Given the description of an element on the screen output the (x, y) to click on. 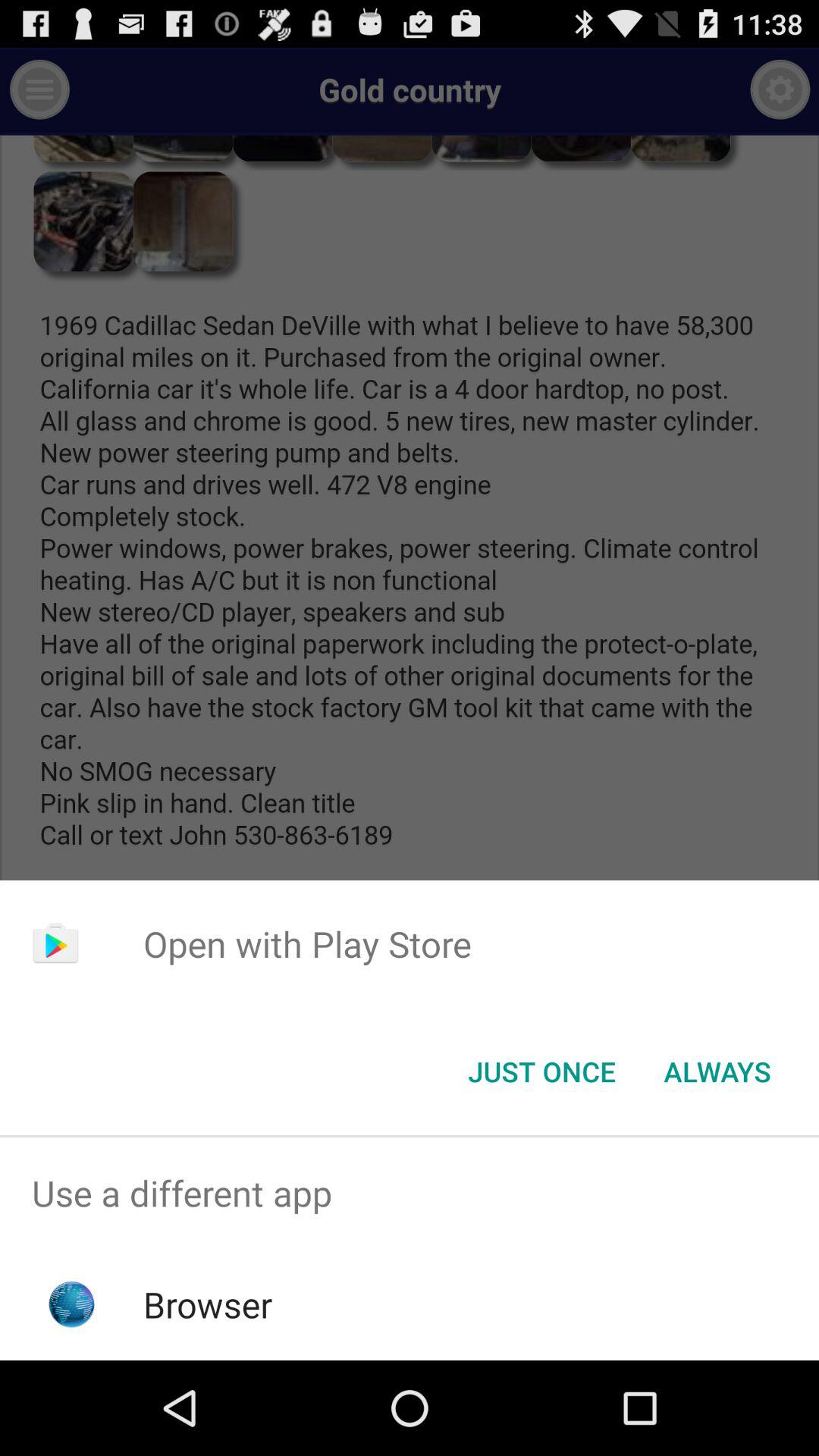
click the app below use a different (207, 1304)
